Given the description of an element on the screen output the (x, y) to click on. 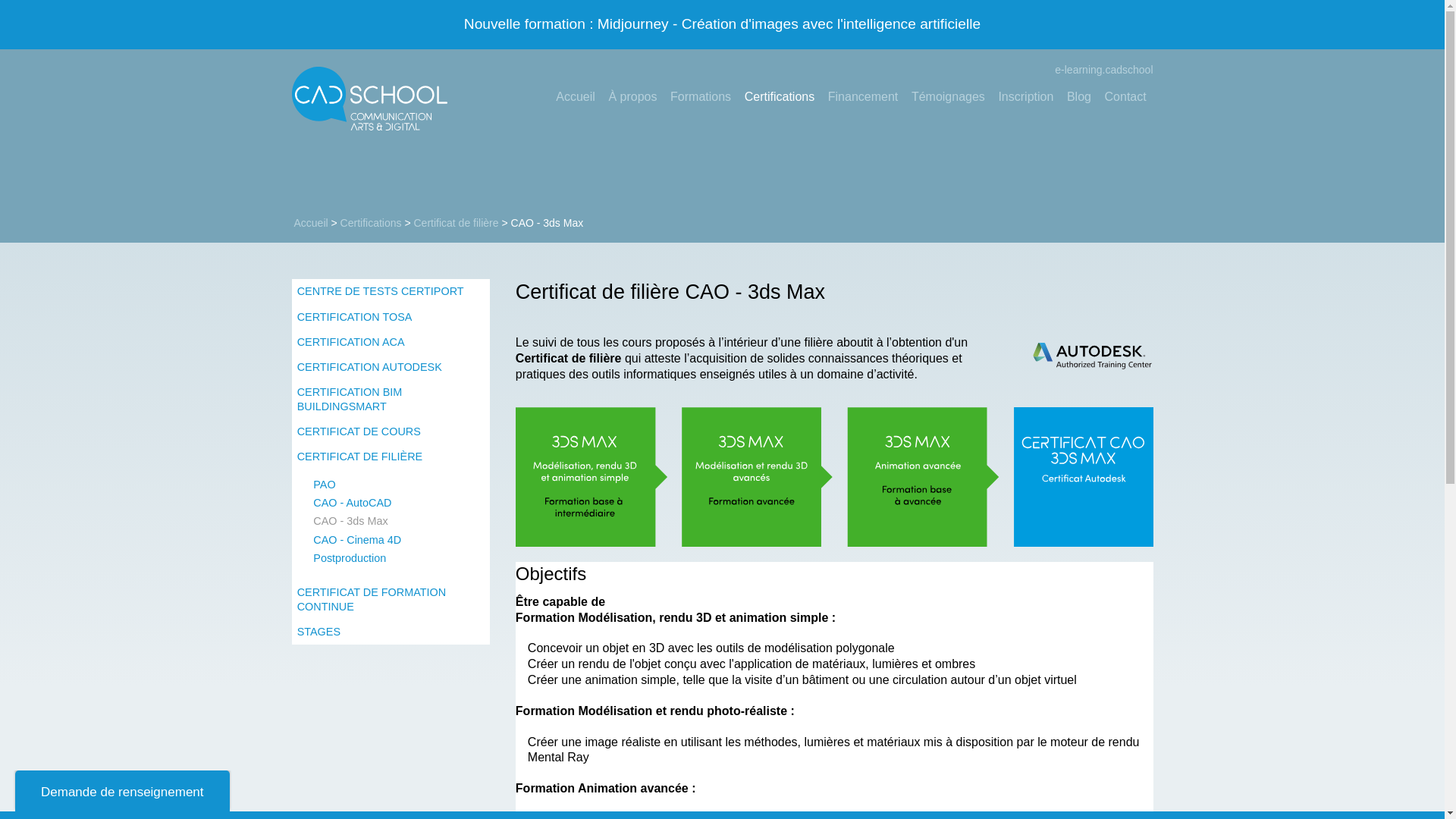
PAO Element type: text (390, 484)
CAO - 3ds Max Element type: text (390, 521)
CAO - AutoCAD Element type: text (390, 502)
Postproduction Element type: text (390, 558)
STAGES Element type: text (390, 631)
Accueil Element type: text (311, 222)
Certifications Element type: text (779, 96)
CERTIFICATION TOSA Element type: text (390, 316)
Blog Element type: text (1079, 96)
Contact Element type: text (1125, 96)
CERTIFICATION ACA Element type: text (390, 341)
  Element type: text (1416, 785)
Certifications Element type: text (370, 222)
CERTIFICAT DE FORMATION CONTINUE Element type: text (390, 599)
CERTIFICAT DE COURS Element type: text (390, 430)
Formations Element type: text (700, 96)
e-learning.cadschool Element type: text (1096, 69)
CERTIFICATION BIM BUILDINGSMART Element type: text (390, 399)
CERTIFICATION AUTODESK Element type: text (390, 366)
Demande de renseignement Element type: text (122, 790)
Inscription Element type: text (1025, 96)
Financement Element type: text (862, 96)
Accueil Element type: text (575, 96)
CAO - Cinema 4D Element type: text (390, 539)
CENTRE DE TESTS CERTIPORT Element type: text (390, 291)
